Given the description of an element on the screen output the (x, y) to click on. 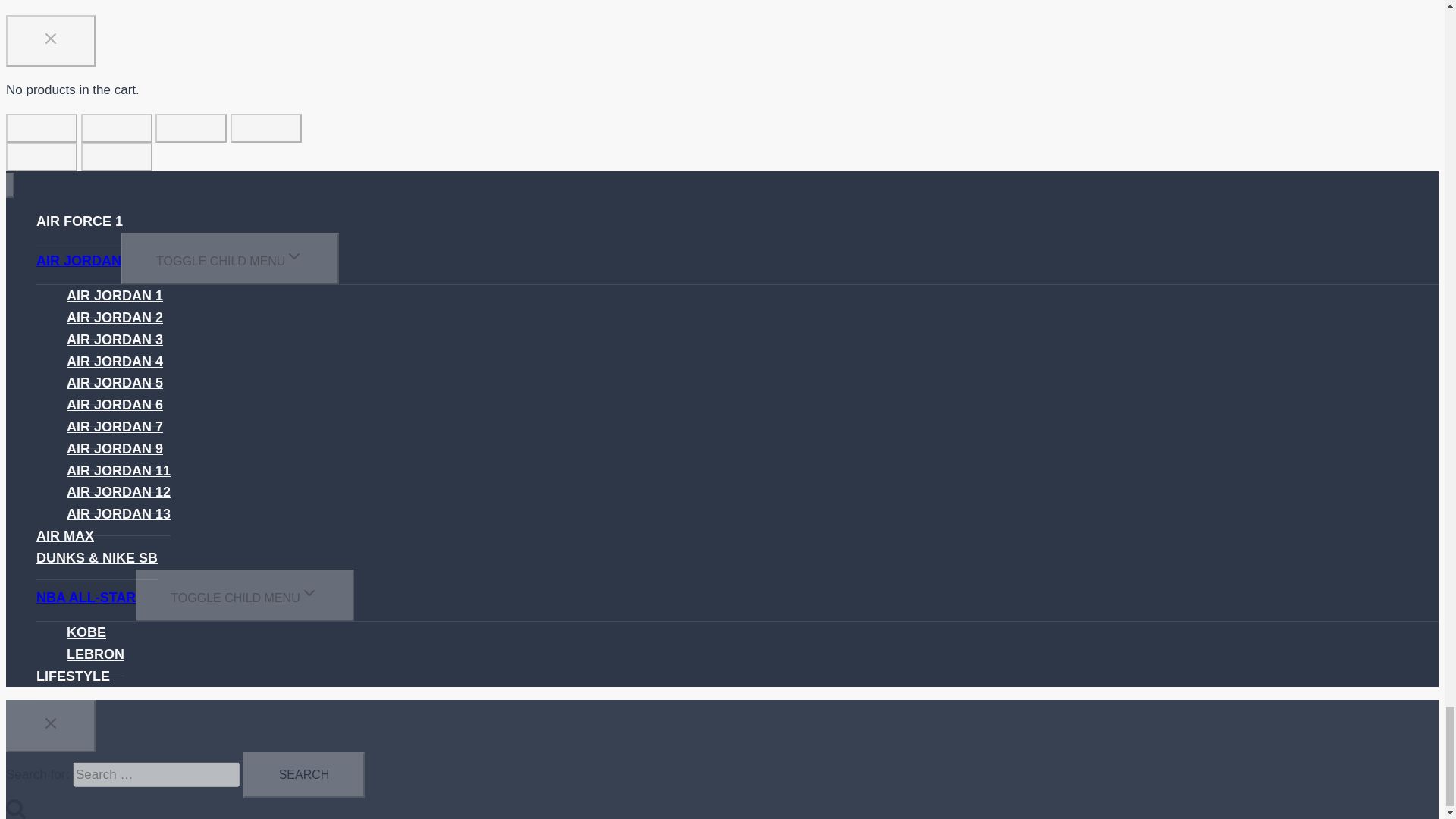
Search (304, 774)
Search (304, 774)
